Given the description of an element on the screen output the (x, y) to click on. 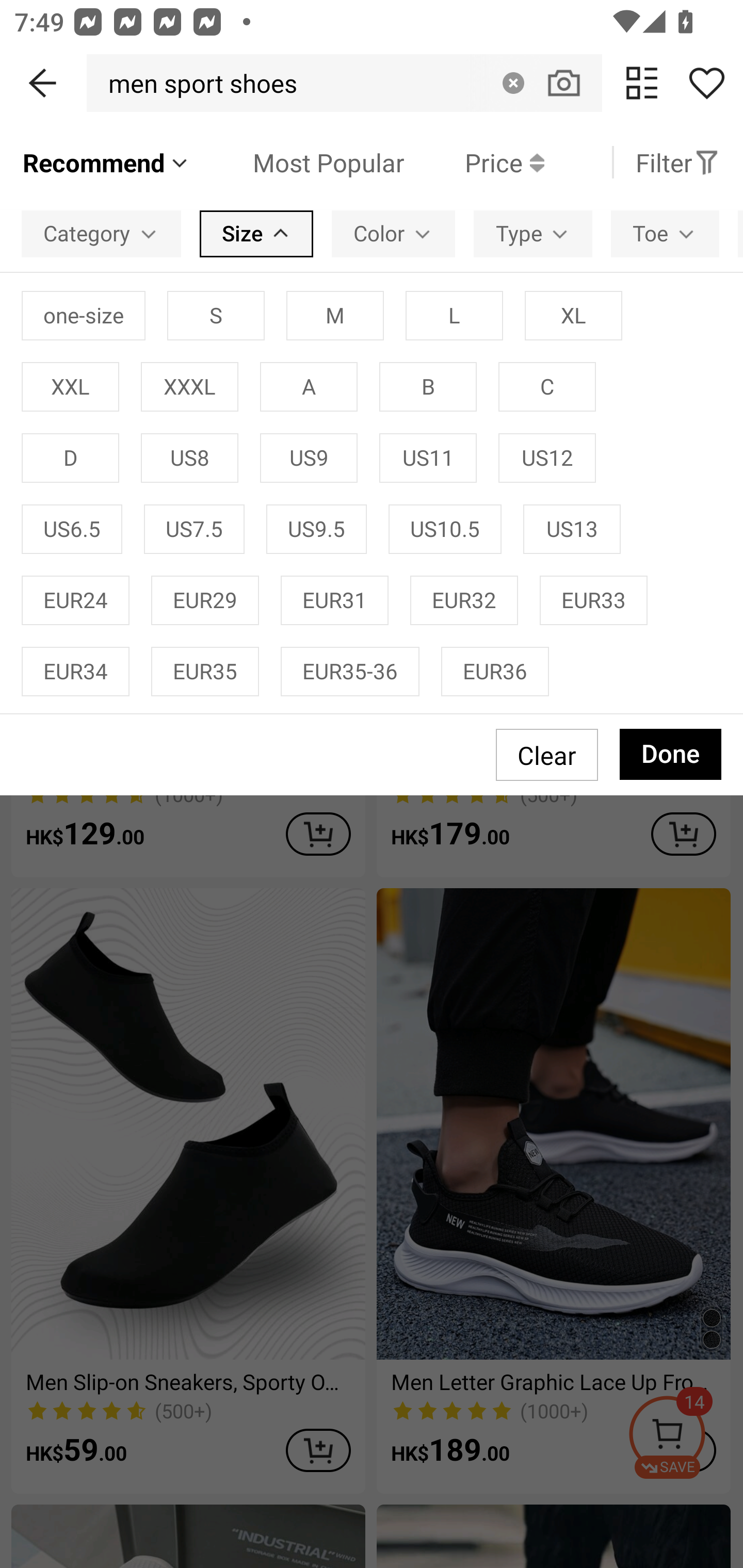
men sport shoes Clear (343, 82)
men sport shoes (197, 82)
Clear (513, 82)
change view (641, 82)
Share (706, 82)
Recommend (106, 162)
Most Popular (297, 162)
Price (474, 162)
Filter (677, 162)
Category (101, 233)
Size (256, 233)
Color (393, 233)
Type (533, 233)
Toe (664, 233)
